Given the description of an element on the screen output the (x, y) to click on. 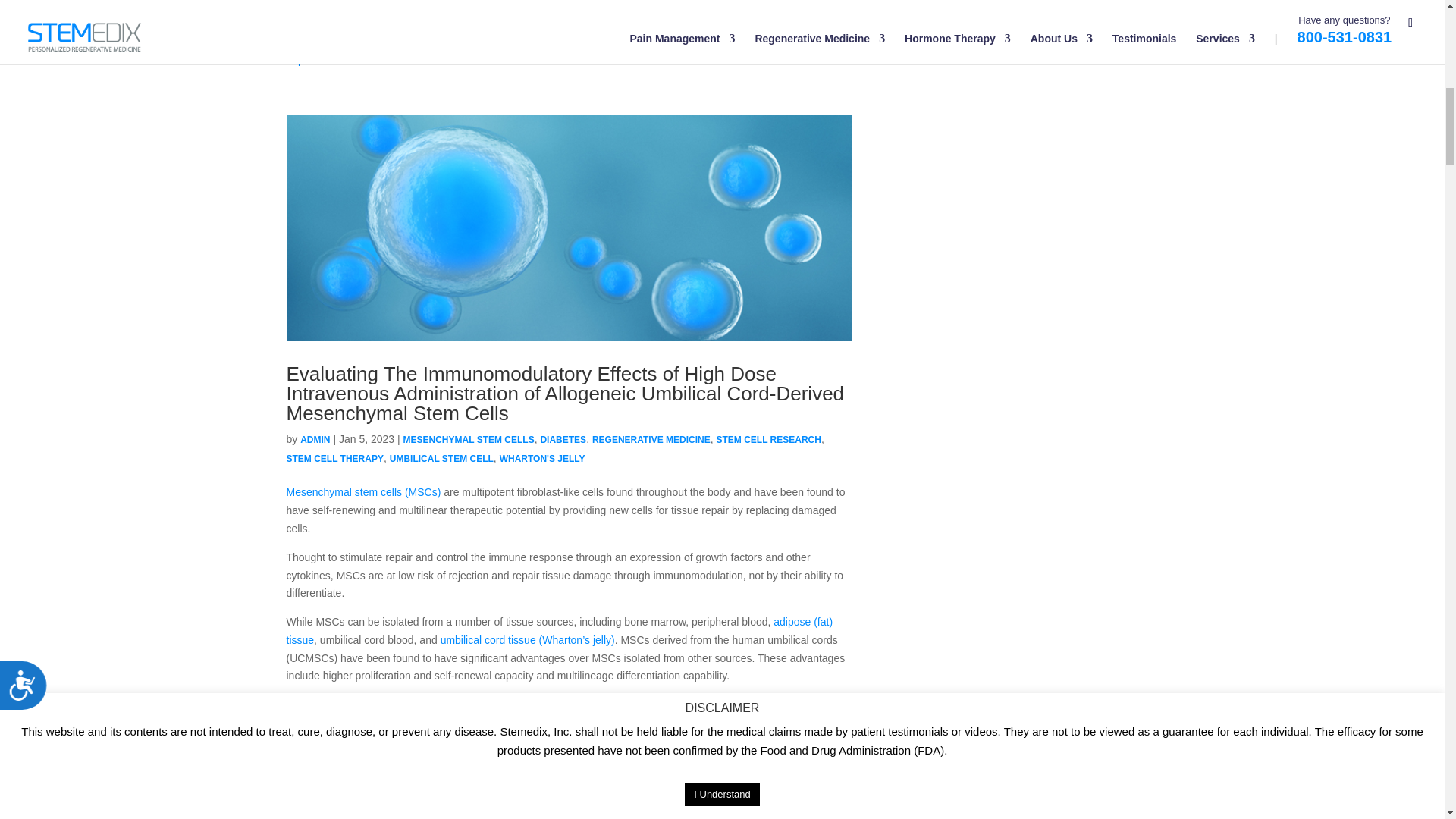
Posts by admin (314, 439)
